Given the description of an element on the screen output the (x, y) to click on. 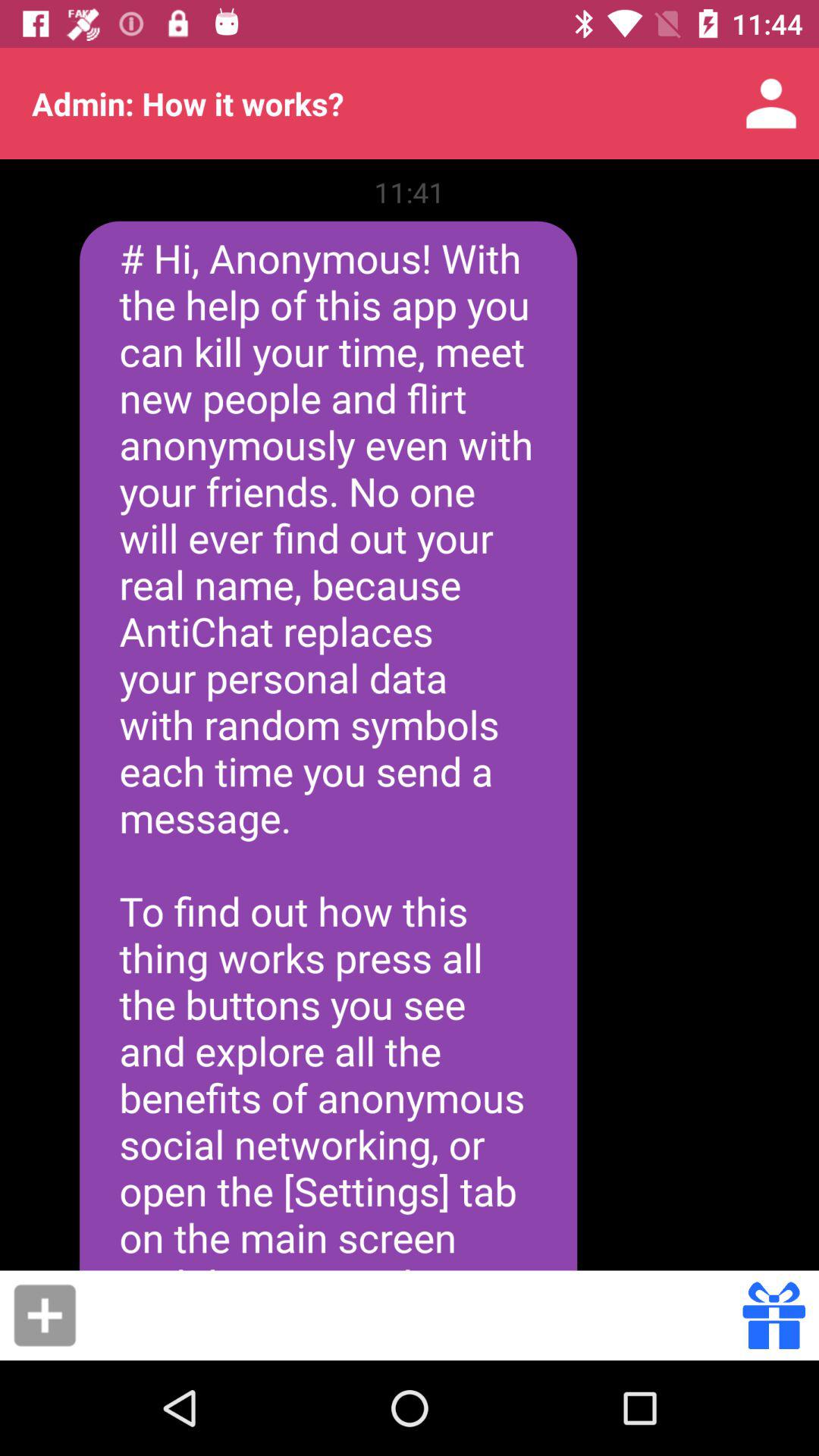
displays available gifts (774, 1315)
